Given the description of an element on the screen output the (x, y) to click on. 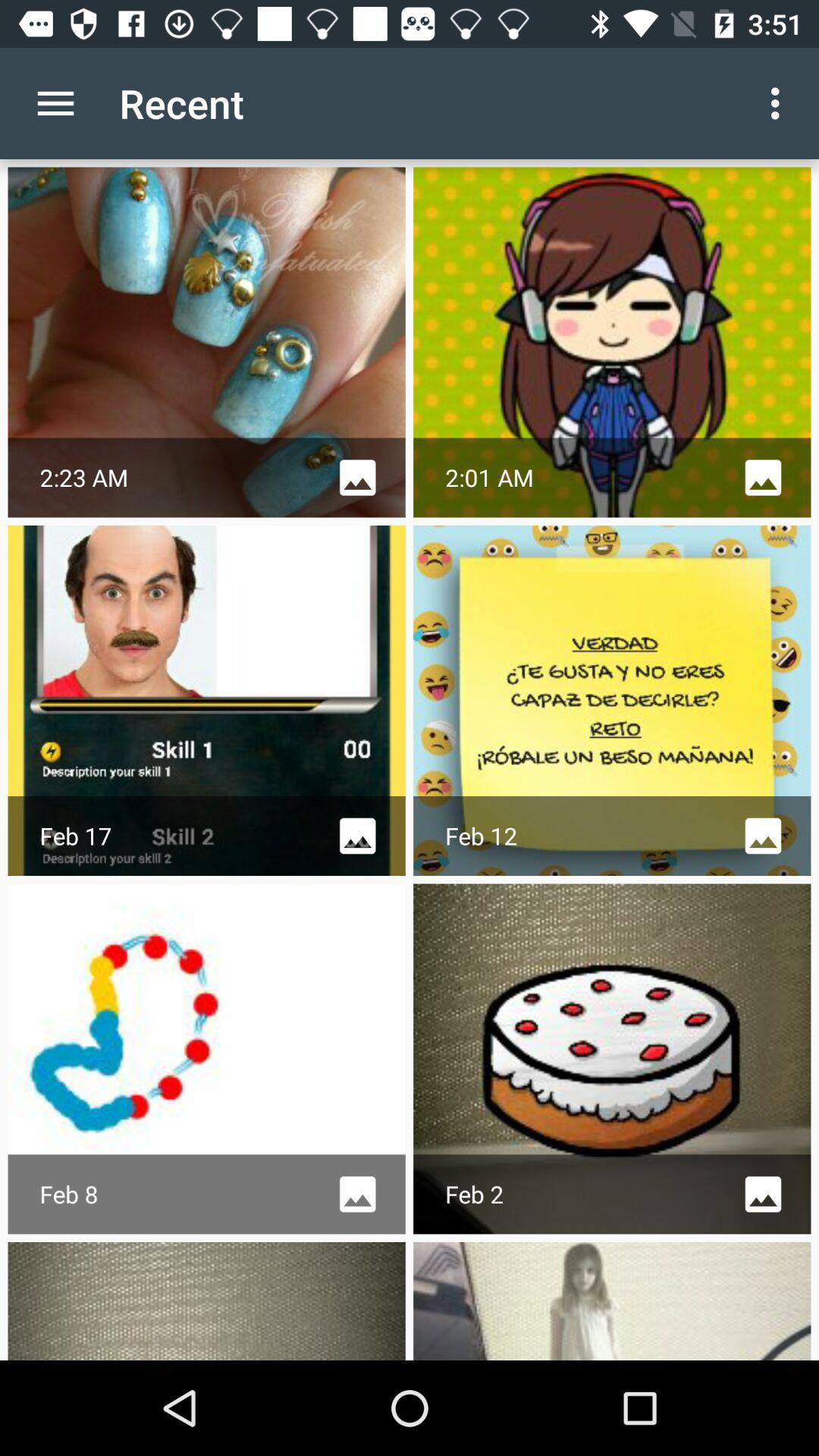
open item next to recent app (55, 103)
